Given the description of an element on the screen output the (x, y) to click on. 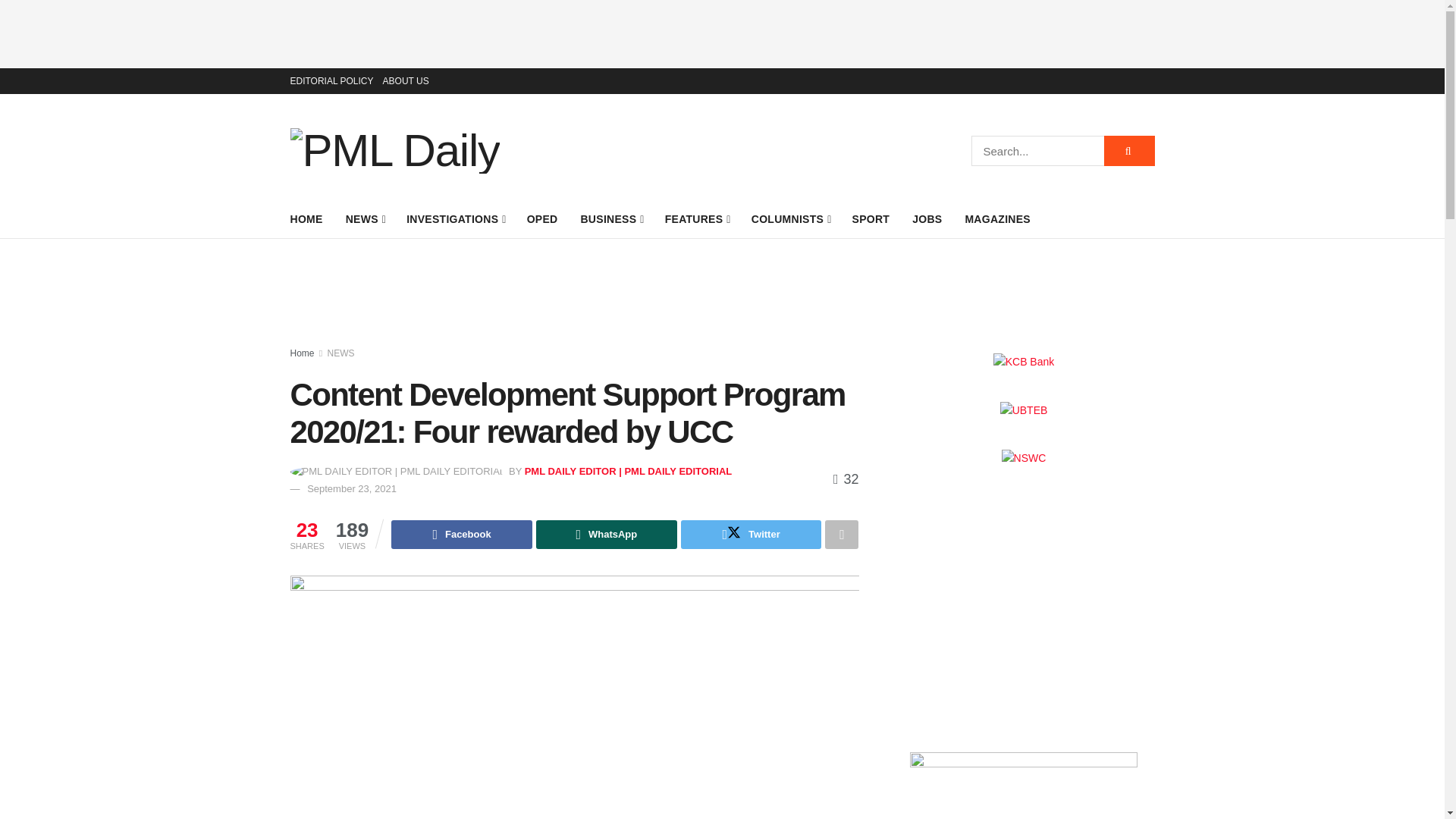
ABOUT US (405, 80)
BUSINESS (610, 219)
JOBS (927, 219)
HOME (305, 219)
EDITORIAL POLICY (330, 80)
OPED (542, 219)
FEATURES (697, 219)
MAGAZINES (996, 219)
SPORT (870, 219)
COLUMNISTS (790, 219)
NEWS (365, 219)
INVESTIGATIONS (454, 219)
